Given the description of an element on the screen output the (x, y) to click on. 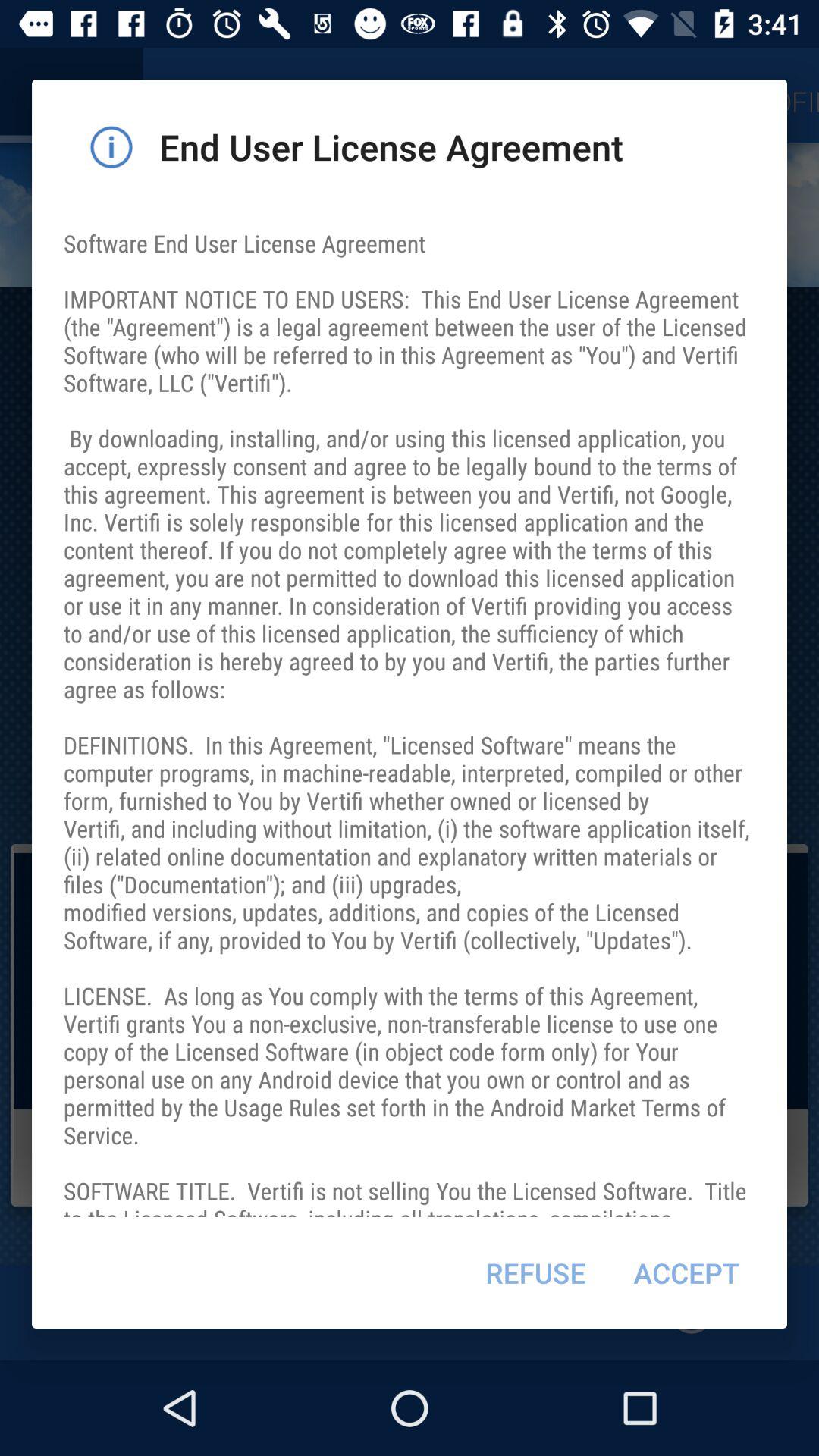
press the item next to refuse item (686, 1272)
